Given the description of an element on the screen output the (x, y) to click on. 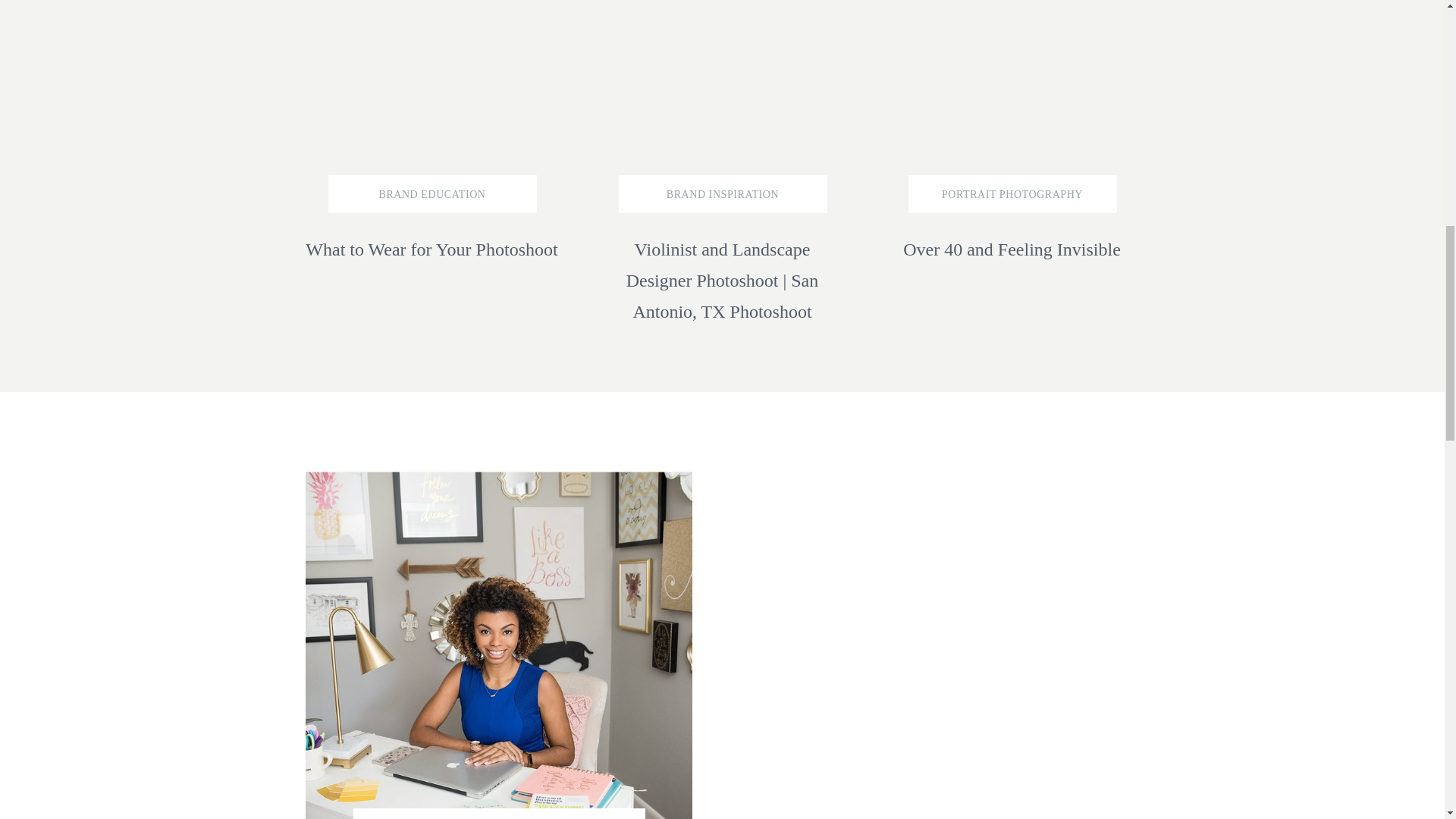
BRAND INSPIRATION (722, 194)
PORTRAIT PHOTOGRAPHY (1012, 194)
What to Wear for Your Photoshoot (430, 280)
Over 40 and Feeling Invisible (1010, 262)
